Given the description of an element on the screen output the (x, y) to click on. 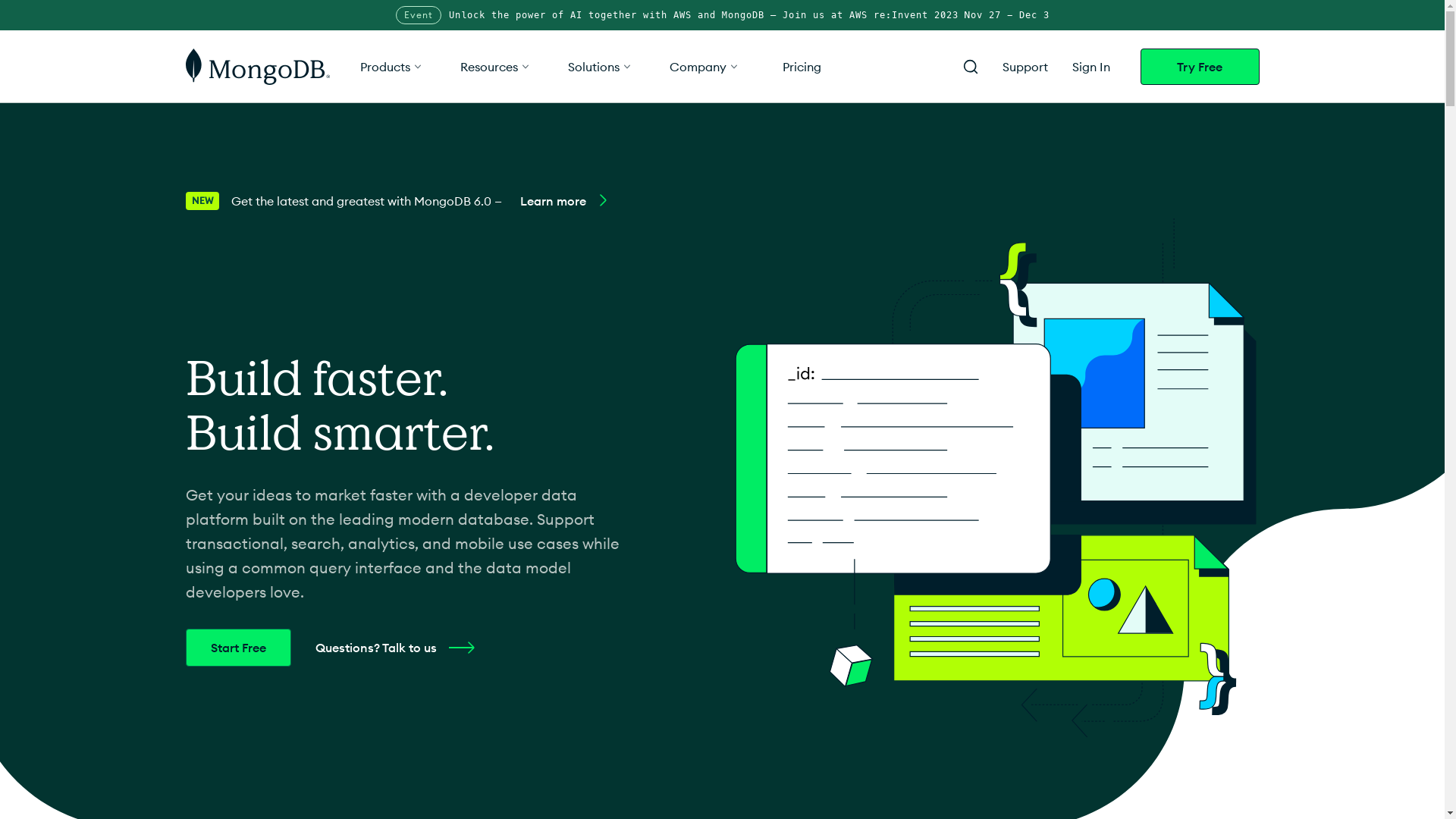
Resources Element type: text (494, 66)
Company Element type: text (703, 66)
Solutions Element type: text (599, 66)
Start Free Element type: text (237, 647)
Support Element type: text (1025, 66)
Products Element type: text (391, 66)
Sign In Element type: text (1091, 66)
Learn more Element type: text (574, 200)
Questions? Talk to us Element type: text (400, 647)
Pricing Element type: text (802, 66)
Try Free Element type: text (1199, 66)
